Given the description of an element on the screen output the (x, y) to click on. 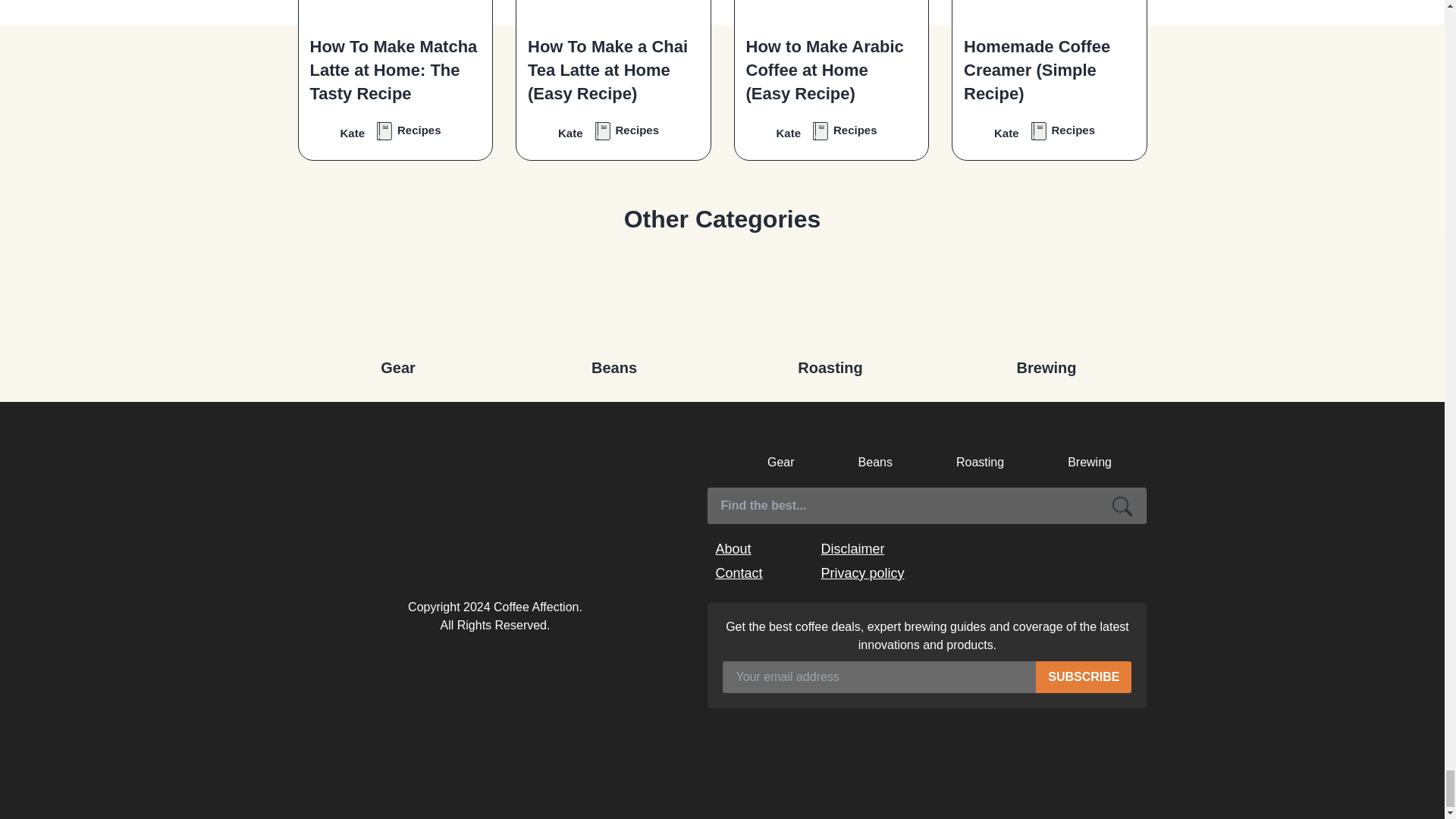
Search (1122, 505)
Brewing (1046, 301)
Beans (614, 301)
Gear (397, 301)
Roasting (829, 301)
